Given the description of an element on the screen output the (x, y) to click on. 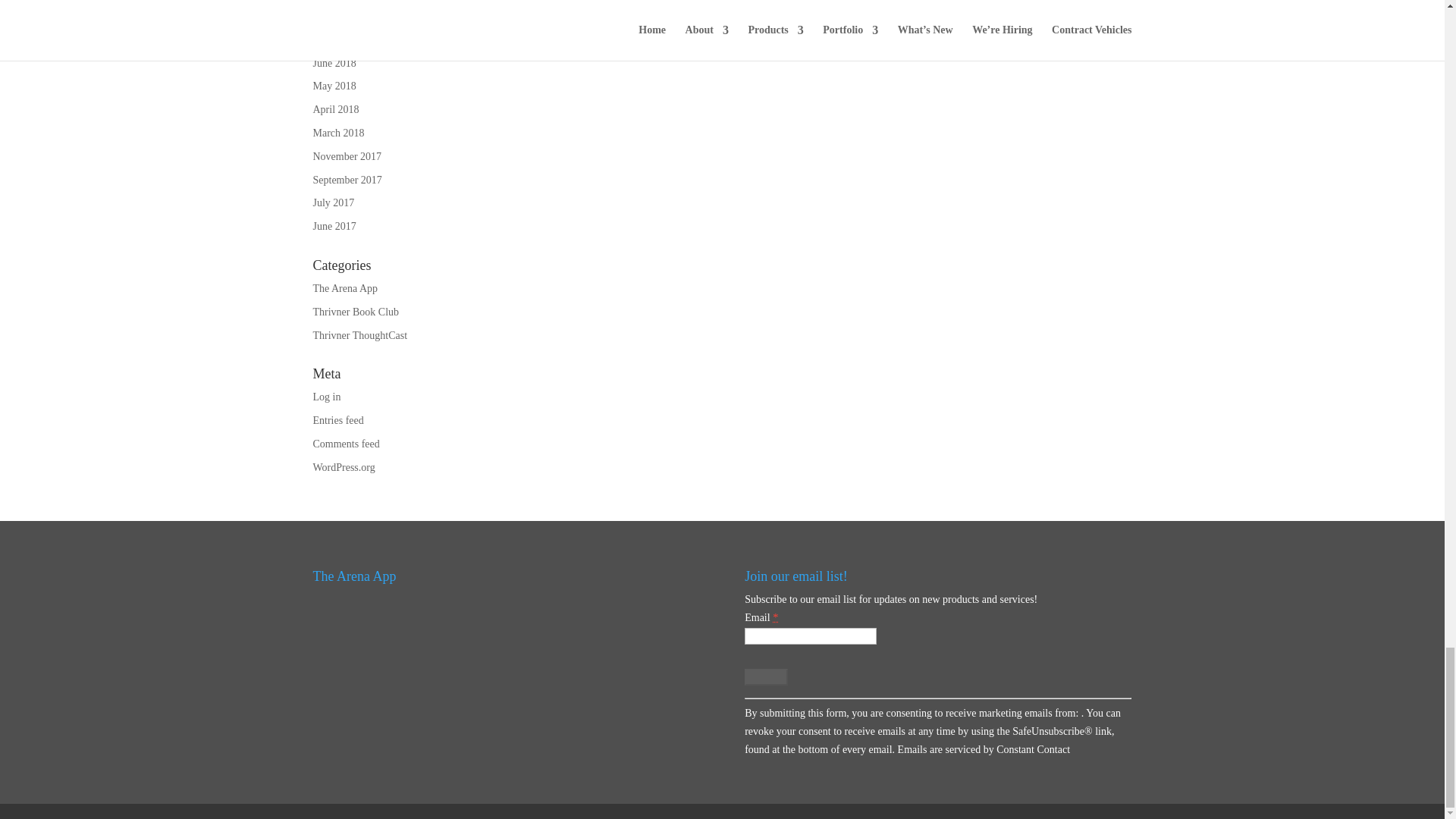
Sign up (765, 677)
